Given the description of an element on the screen output the (x, y) to click on. 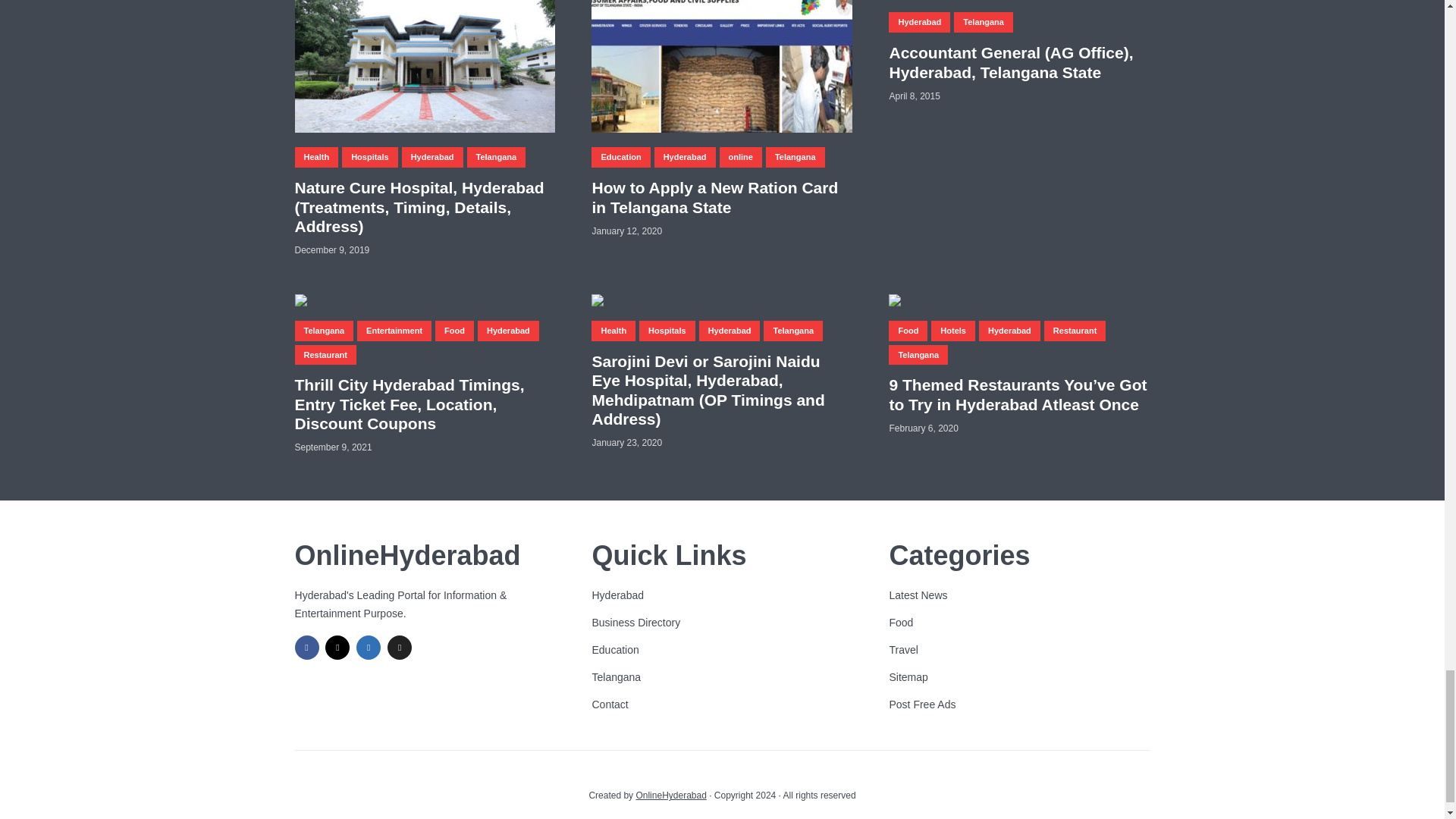
Linkedin (368, 647)
Instagram (336, 647)
Facebook (306, 647)
